Given the description of an element on the screen output the (x, y) to click on. 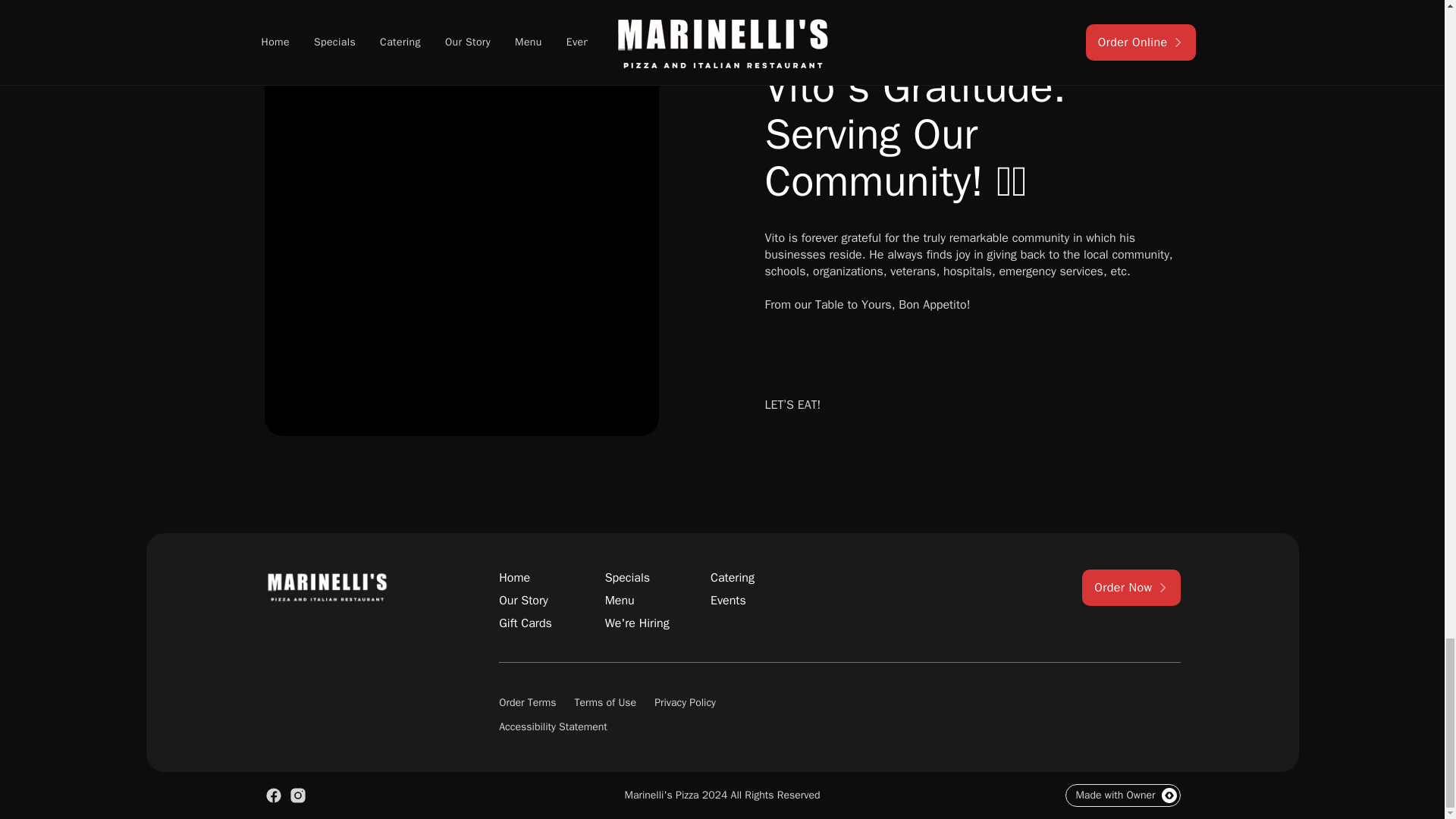
Our Story (545, 600)
Specials (651, 577)
Instagram (296, 795)
Order Terms (527, 701)
We're Hiring (651, 623)
Facebook (272, 795)
Menu (651, 600)
Terms of Use (604, 701)
Order Now (1130, 587)
Catering (756, 577)
Gift Cards (545, 623)
Home (545, 577)
Events (756, 600)
